Given the description of an element on the screen output the (x, y) to click on. 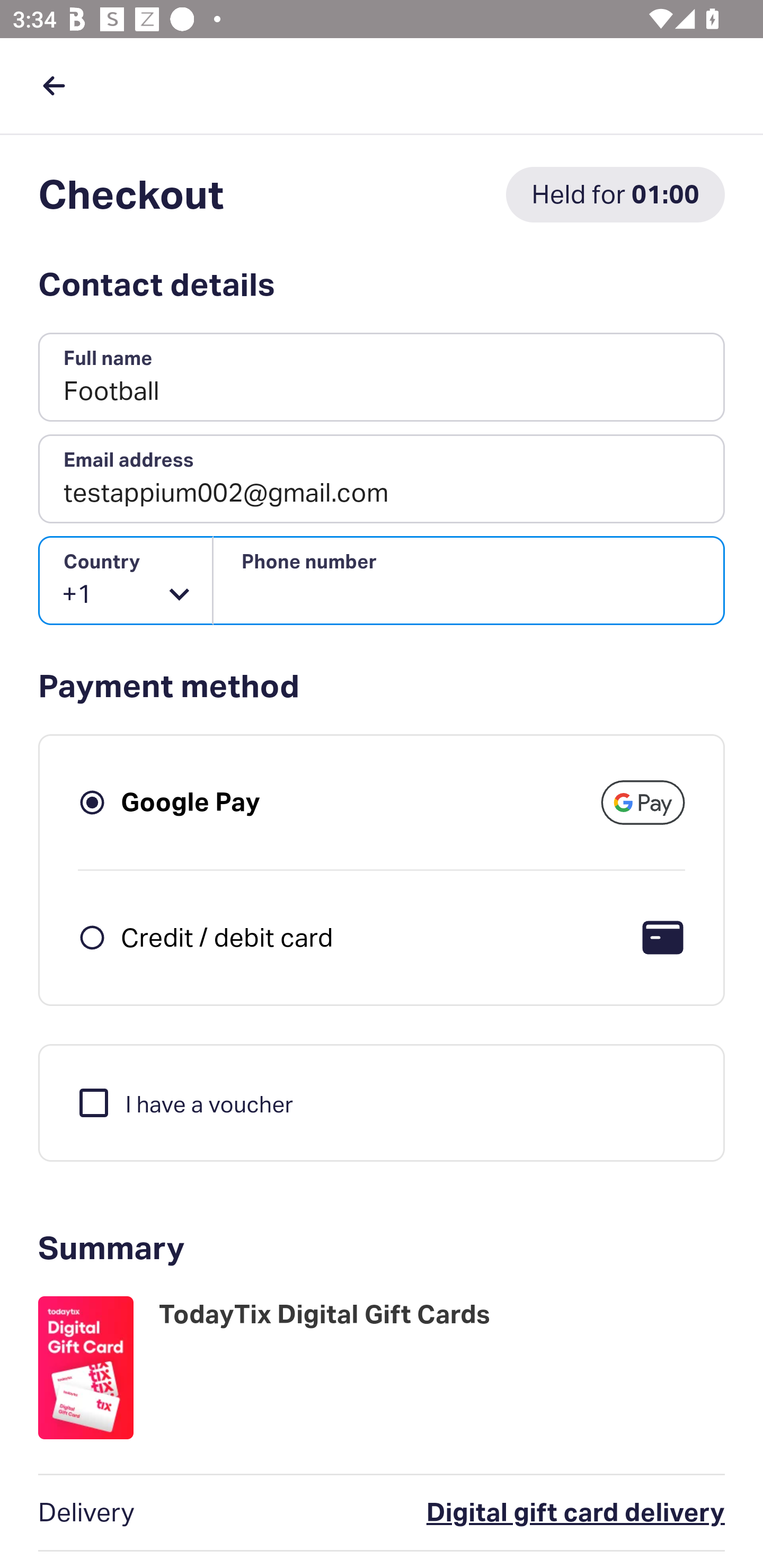
back button (53, 85)
Football (381, 377)
testappium002@gmail.com (381, 478)
  +1 (126, 580)
Google Pay (190, 802)
Credit / debit card (227, 936)
I have a voucher (183, 1101)
Digital gift card delivery (495, 1512)
